Given the description of an element on the screen output the (x, y) to click on. 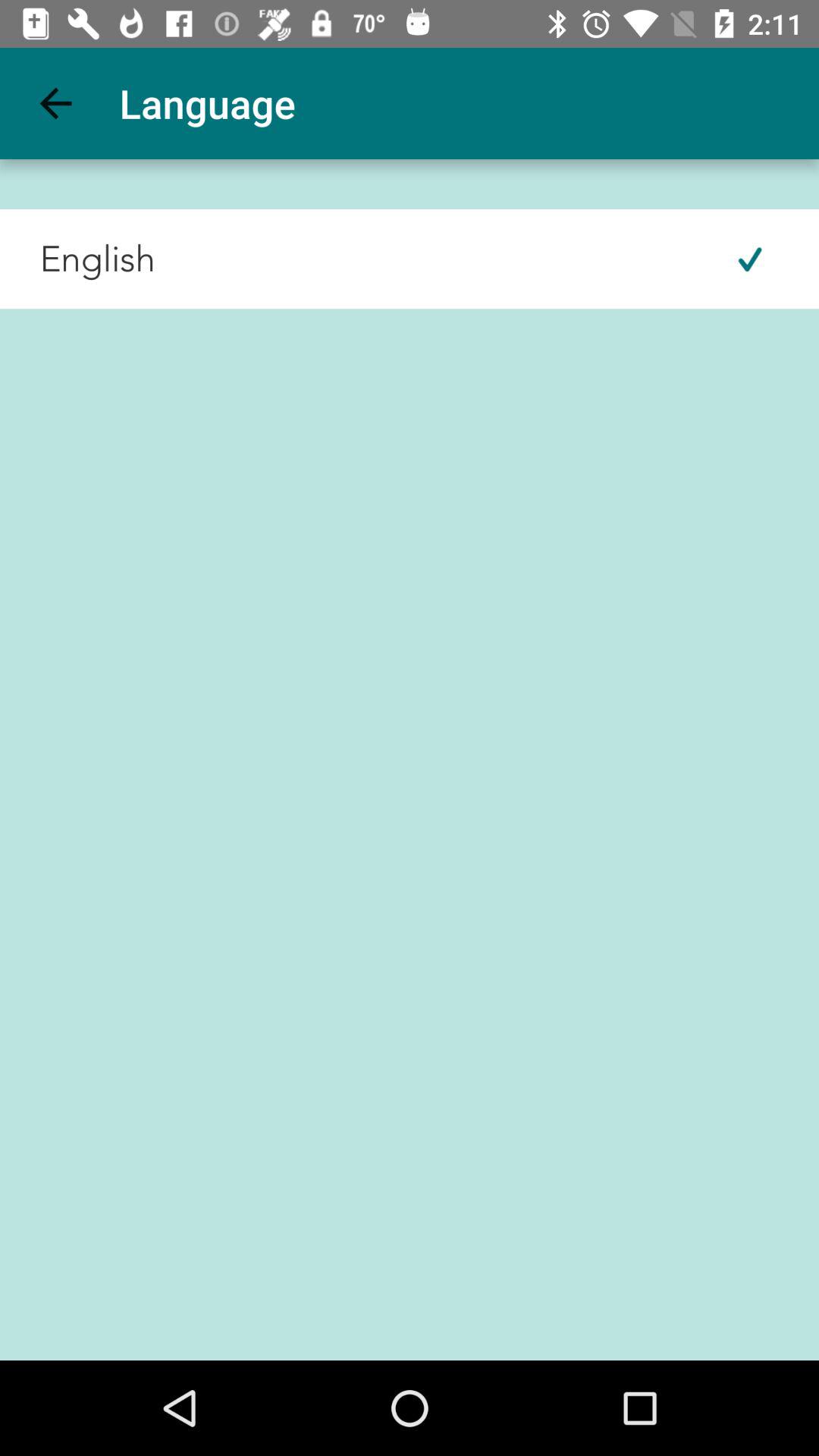
open the item above english (55, 103)
